Given the description of an element on the screen output the (x, y) to click on. 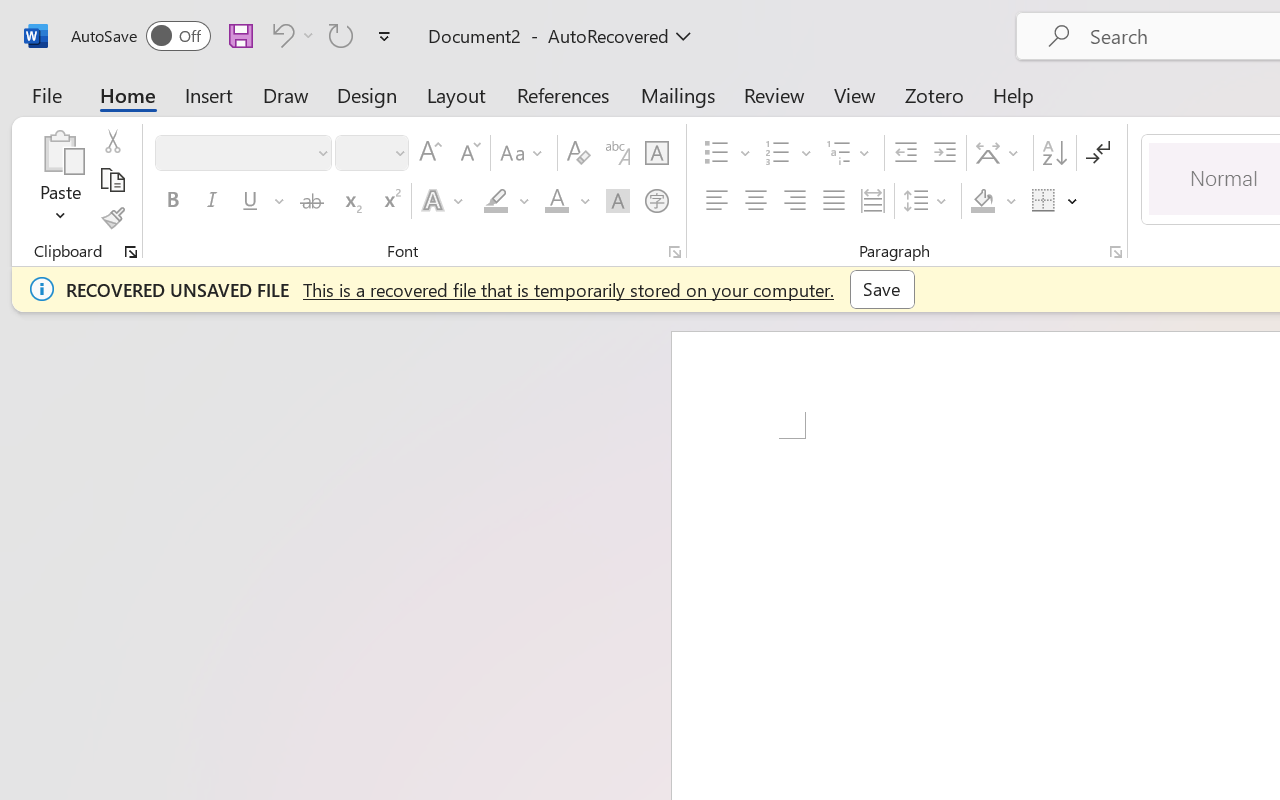
Bold (172, 201)
Copy (112, 179)
Subscript (350, 201)
Font Color (567, 201)
Text Highlight Color (506, 201)
Align Right (794, 201)
Superscript (390, 201)
Shading RGB(0, 0, 0) (982, 201)
